Given the description of an element on the screen output the (x, y) to click on. 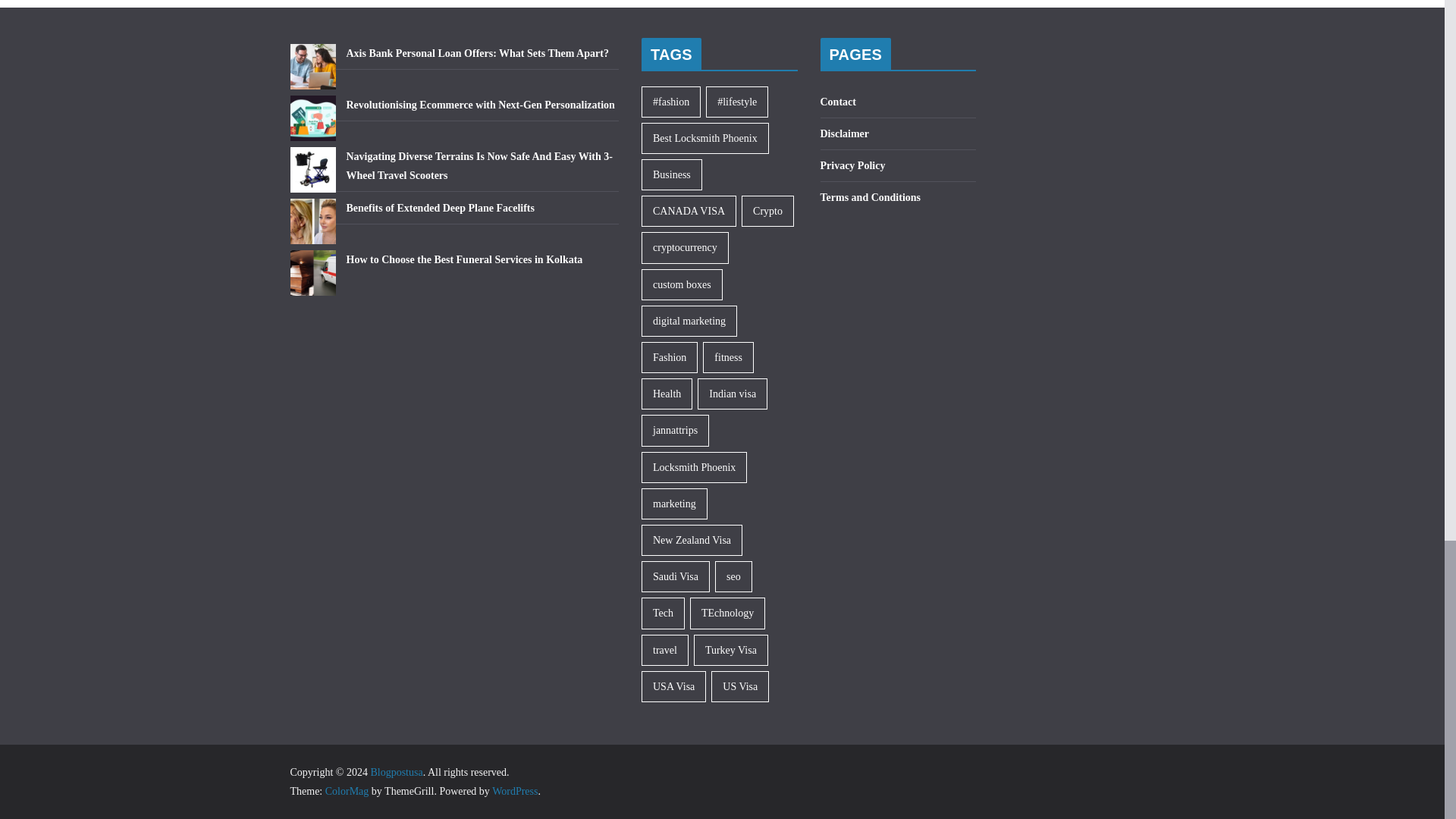
WordPress (514, 790)
ColorMag (346, 790)
Blogpostusa (395, 772)
